Given the description of an element on the screen output the (x, y) to click on. 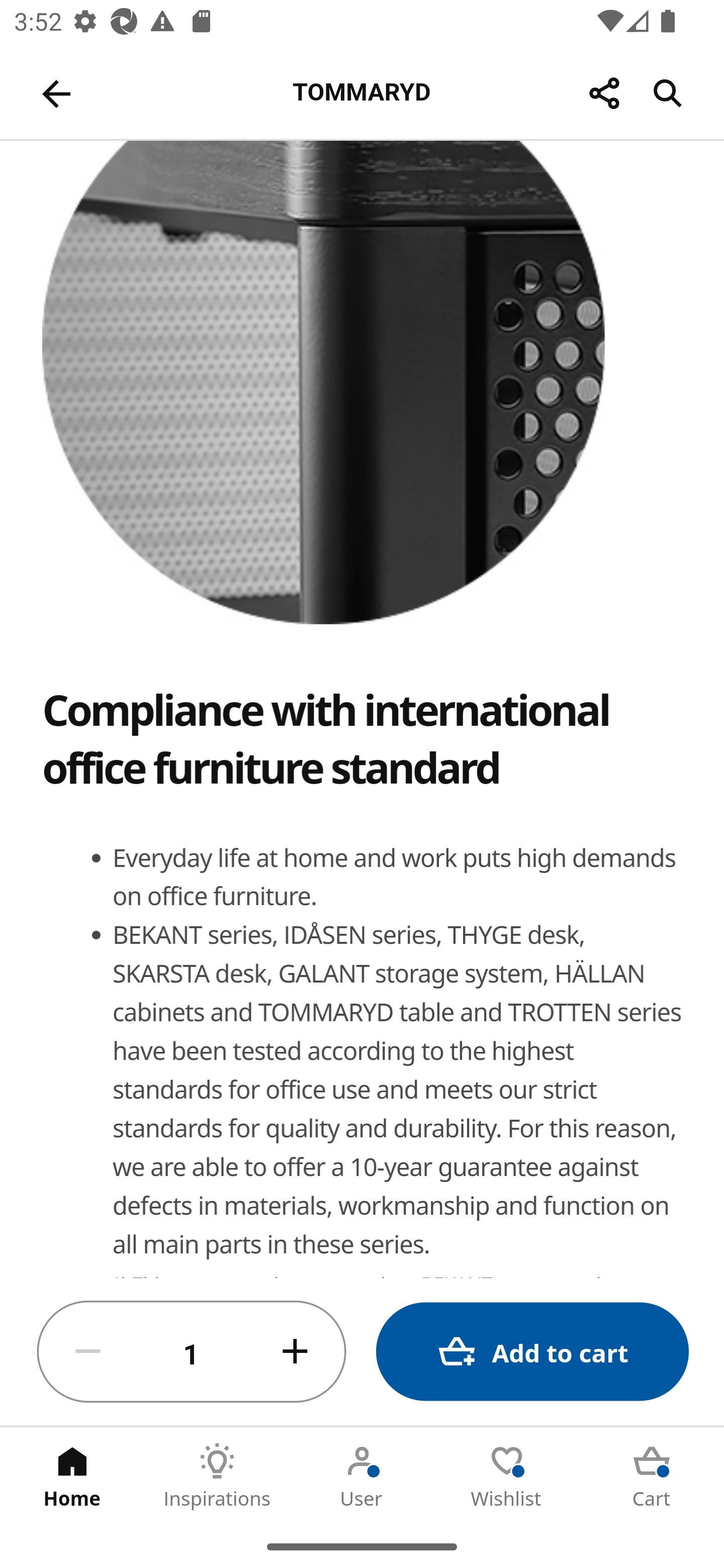
Add to cart (531, 1352)
1 (191, 1352)
Home
Tab 1 of 5 (72, 1476)
Inspirations
Tab 2 of 5 (216, 1476)
User
Tab 3 of 5 (361, 1476)
Wishlist
Tab 4 of 5 (506, 1476)
Cart
Tab 5 of 5 (651, 1476)
